Given the description of an element on the screen output the (x, y) to click on. 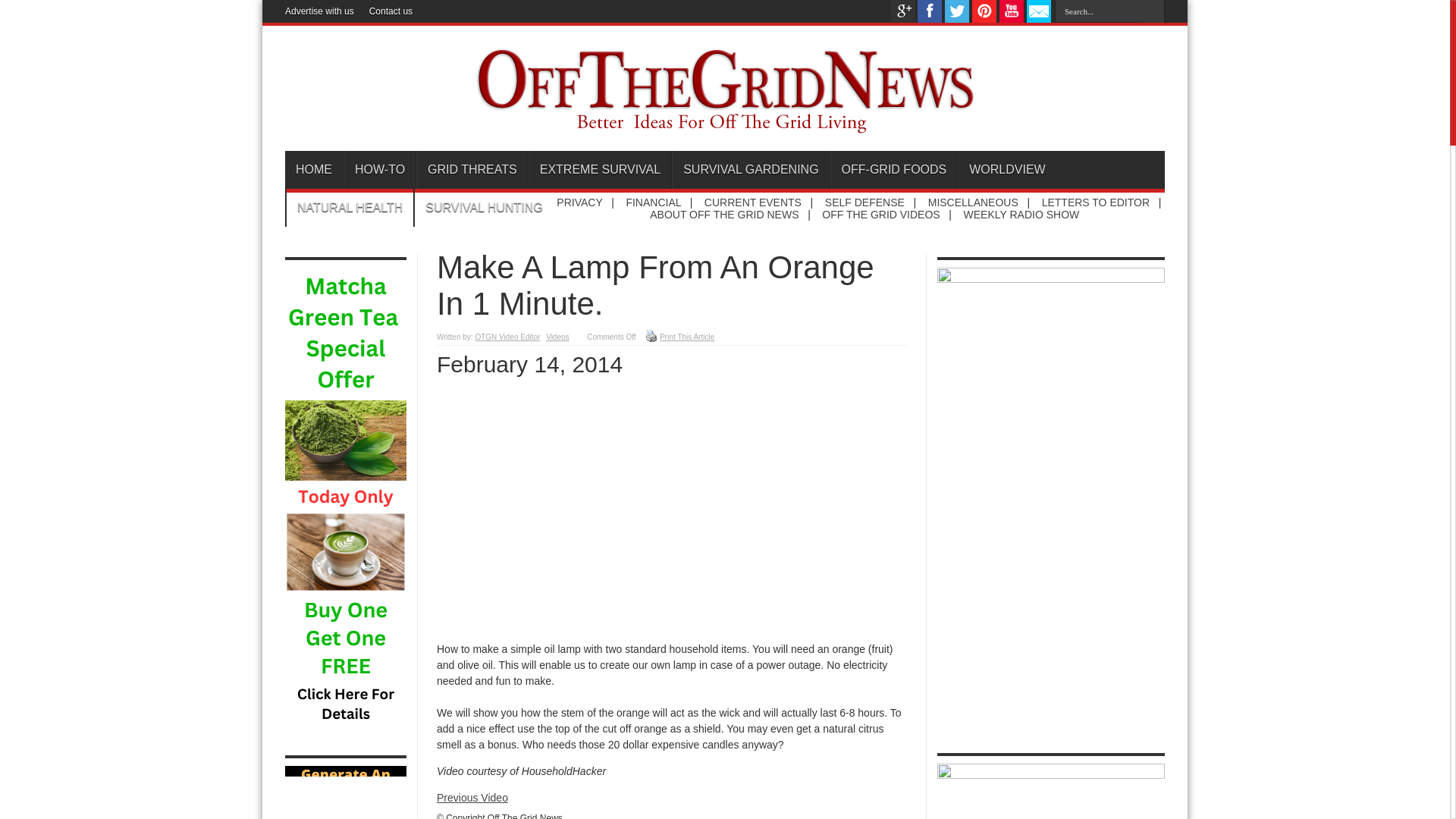
CURRENT EVENTS (753, 202)
SURVIVAL GARDENING (749, 169)
EXTREME SURVIVAL (599, 169)
LETTERS TO EDITOR (1096, 202)
Print This Article (686, 336)
Off The Grid News (725, 125)
Advertise with us (319, 11)
SURVIVAL HUNTING (483, 207)
Search... (1097, 11)
GRID THREATS (471, 169)
